Given the description of an element on the screen output the (x, y) to click on. 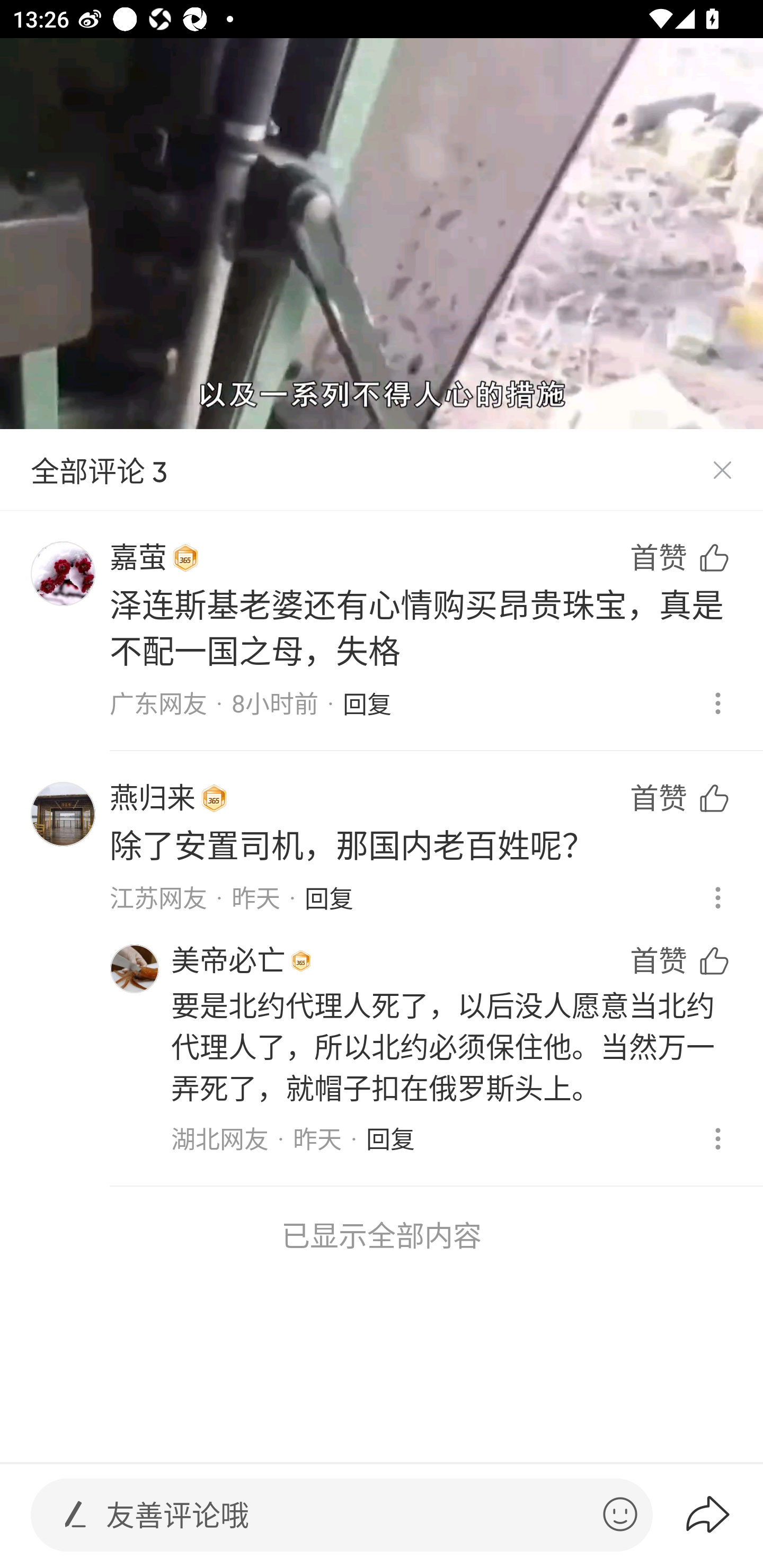
全部评论 3 关闭 (381, 470)
关闭 (722, 470)
UserRightLabel_OneMedalView 勋章 (184, 558)
UserRightLabel_OneMedalView 勋章 (213, 798)
赞 41 (696, 906)
UserRightLabel_OneMedalView 勋章 (300, 961)
收藏 (696, 1184)
已显示全部内容 (381, 1235)
友善评论哦 发表评论 (346, 1515)
 分享 (723, 1514)
 (75, 1514)
 (619, 1514)
